Given the description of an element on the screen output the (x, y) to click on. 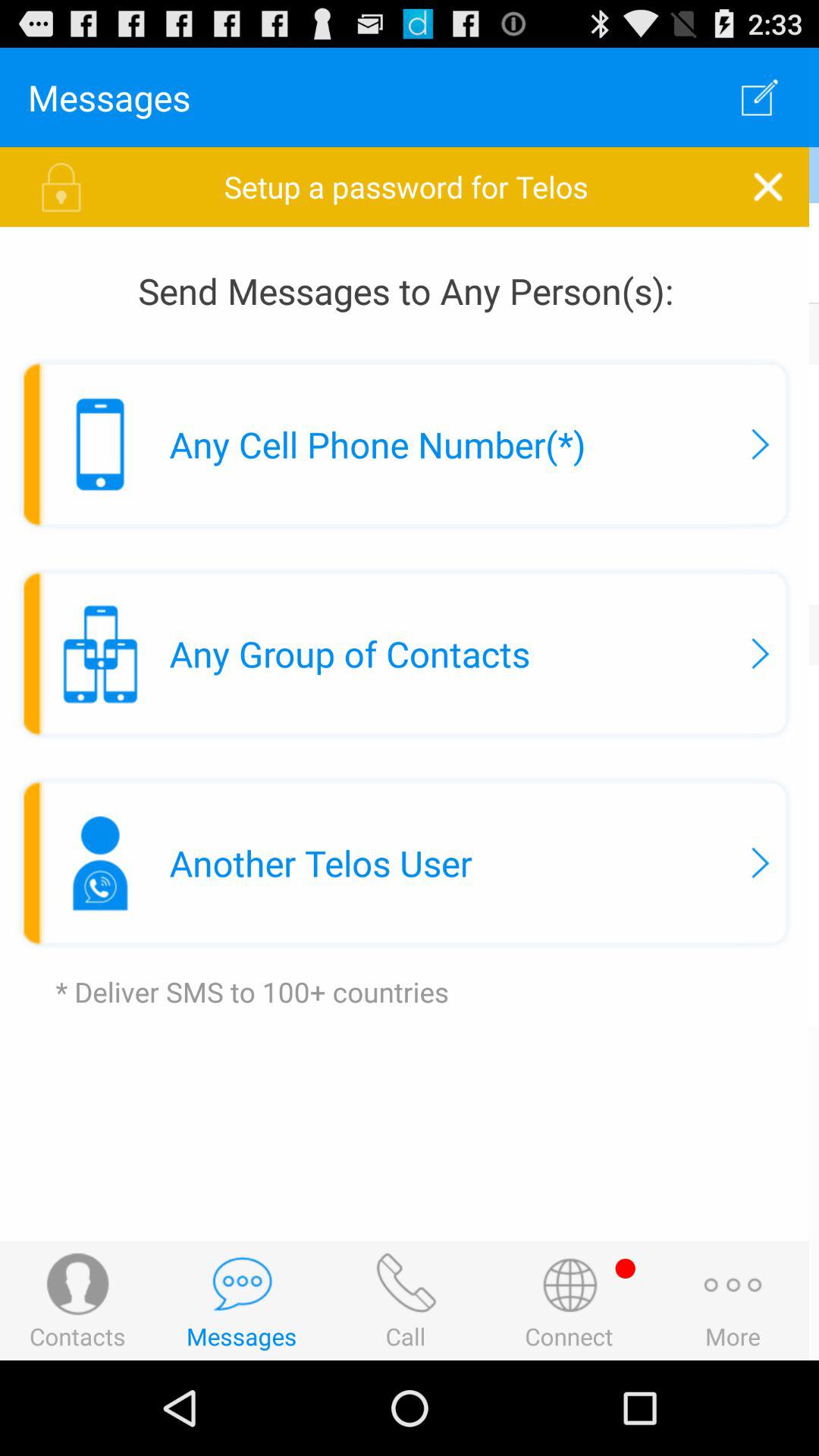
click the item above setup a password item (763, 97)
